Given the description of an element on the screen output the (x, y) to click on. 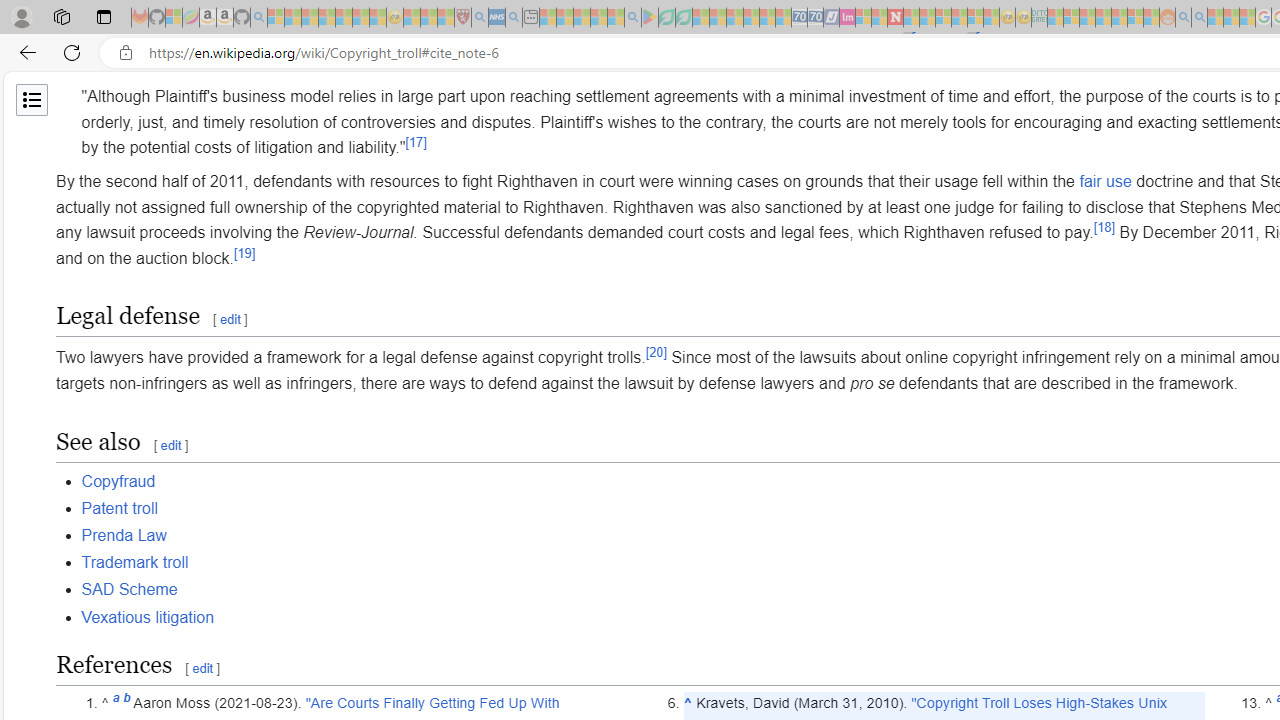
[19] (244, 252)
SAD Scheme (128, 590)
Kinda Frugal - MSN - Sleeping (1119, 17)
[20] (655, 352)
Microsoft account | Privacy - Sleeping (1071, 17)
Robert H. Shmerling, MD - Harvard Health - Sleeping (462, 17)
14 Common Myths Debunked By Scientific Facts - Sleeping (927, 17)
Trusted Community Engagement and Contributions | Guidelines (911, 17)
google - Search - Sleeping (632, 17)
Latest Politics News & Archive | Newsweek.com - Sleeping (895, 17)
Pets - MSN - Sleeping (598, 17)
